Given the description of an element on the screen output the (x, y) to click on. 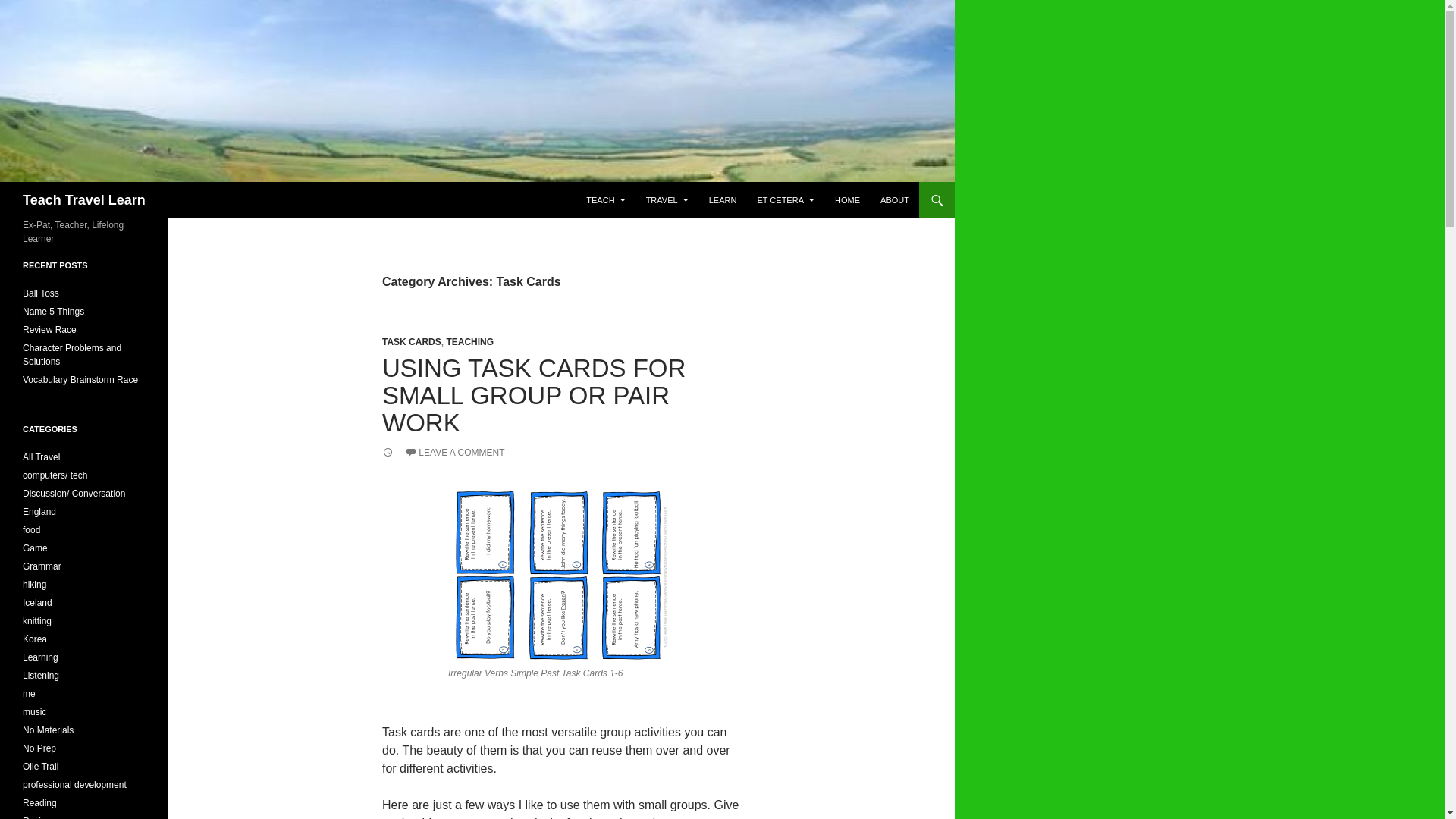
ET CETERA (786, 199)
LEAVE A COMMENT (453, 452)
ABOUT (894, 199)
TRAVEL (667, 199)
LEARN (722, 199)
TEACH (604, 199)
TASK CARDS (411, 341)
HOME (847, 199)
